Given the description of an element on the screen output the (x, y) to click on. 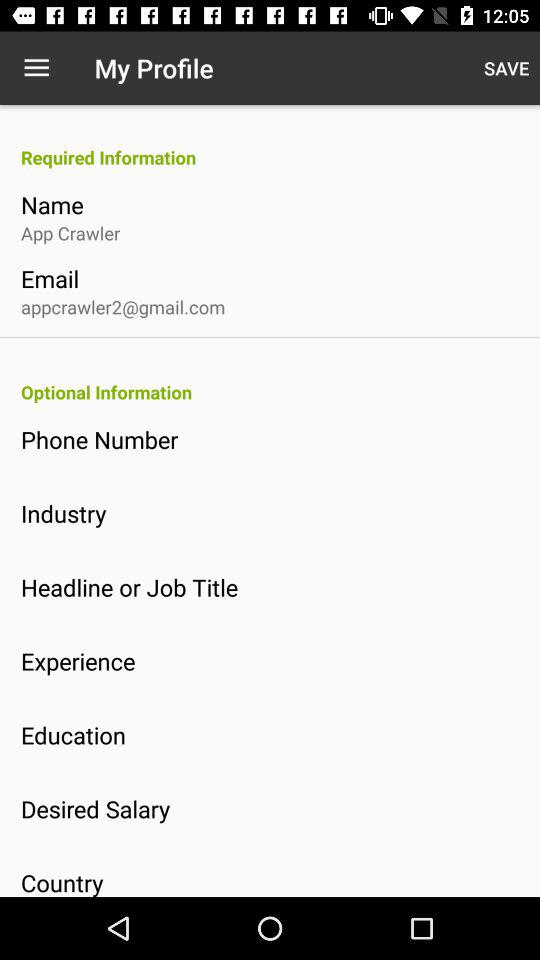
turn on icon above the required information (36, 68)
